Given the description of an element on the screen output the (x, y) to click on. 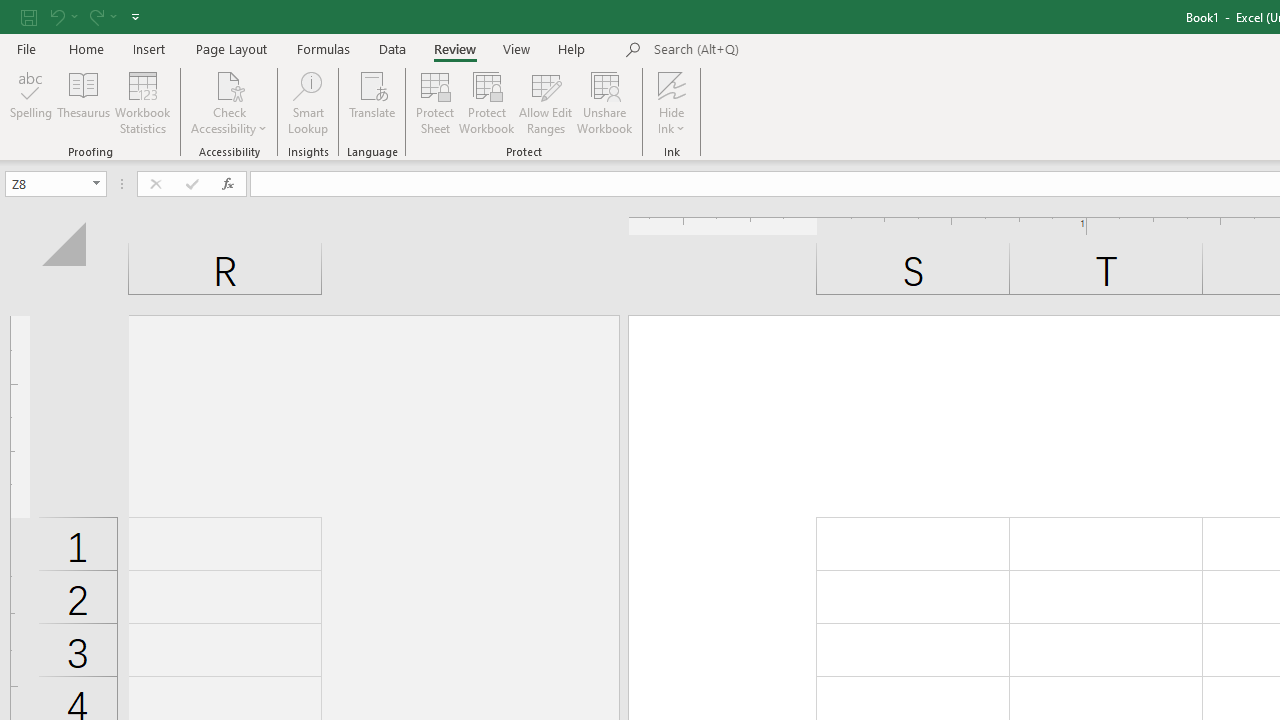
Protect Sheet... (434, 102)
Thesaurus... (83, 102)
Allow Edit Ranges (545, 102)
Translate (372, 102)
Smart Lookup (308, 102)
Unshare Workbook (604, 102)
Workbook Statistics (142, 102)
